Given the description of an element on the screen output the (x, y) to click on. 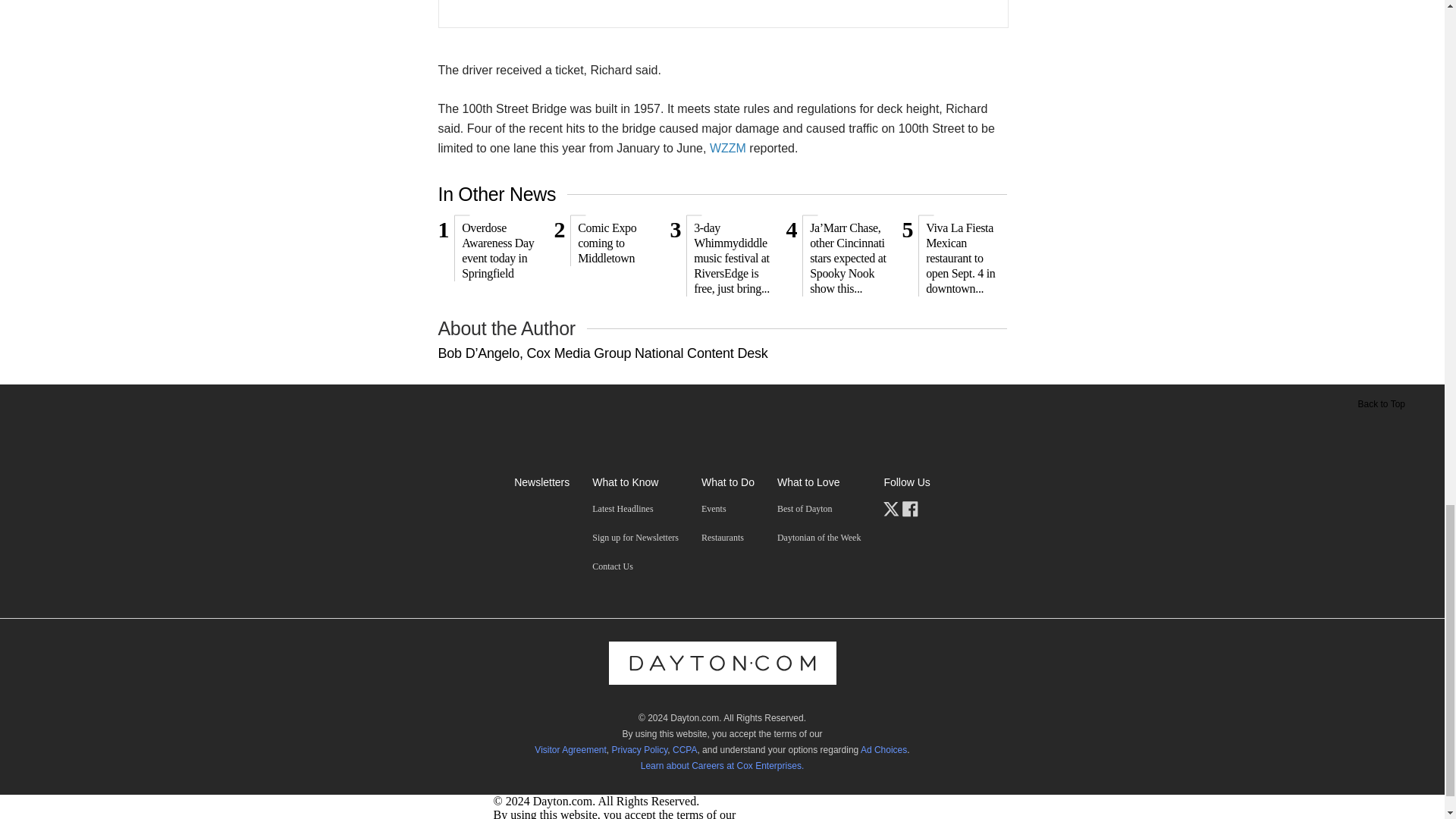
WZZM (605, 255)
